Given the description of an element on the screen output the (x, y) to click on. 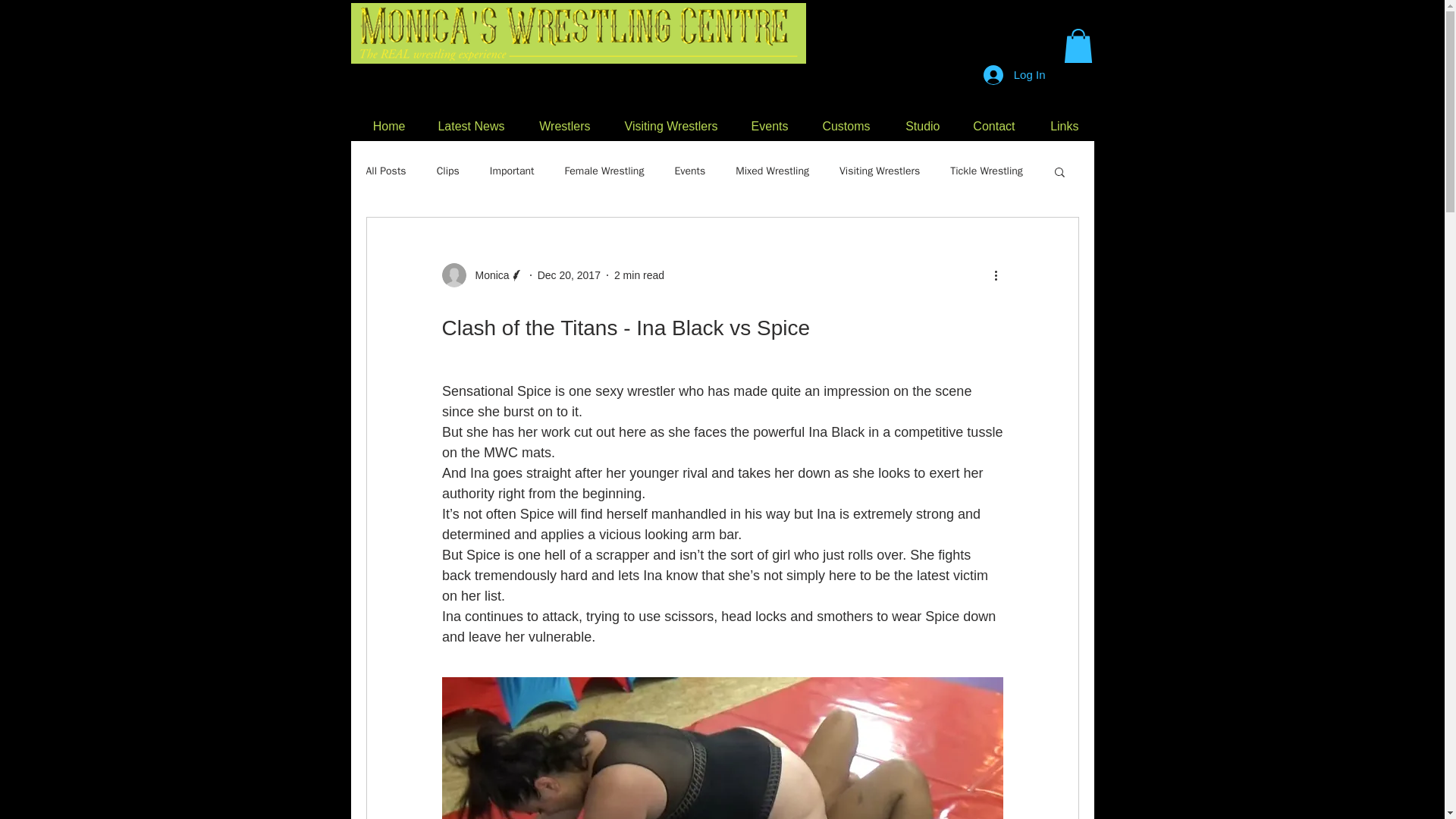
Studio (915, 126)
Latest News (466, 126)
Log In (1014, 74)
2 min read (638, 275)
Visiting Wrestlers (880, 171)
Visiting Wrestlers (665, 126)
Dec 20, 2017 (568, 275)
Customs (839, 126)
Links (1058, 126)
All Posts (385, 171)
